Given the description of an element on the screen output the (x, y) to click on. 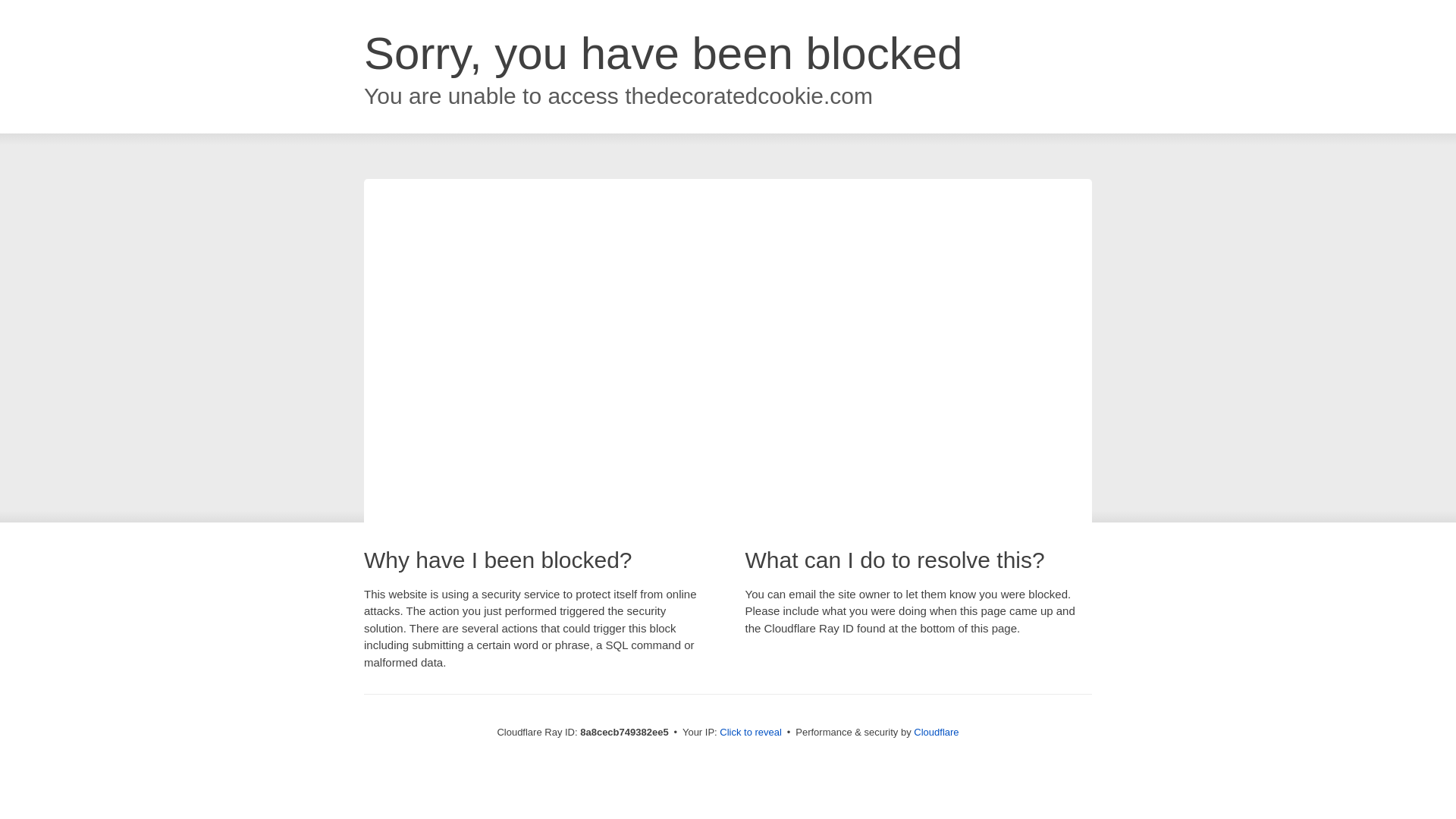
Cloudflare (936, 731)
Click to reveal (750, 732)
